Given the description of an element on the screen output the (x, y) to click on. 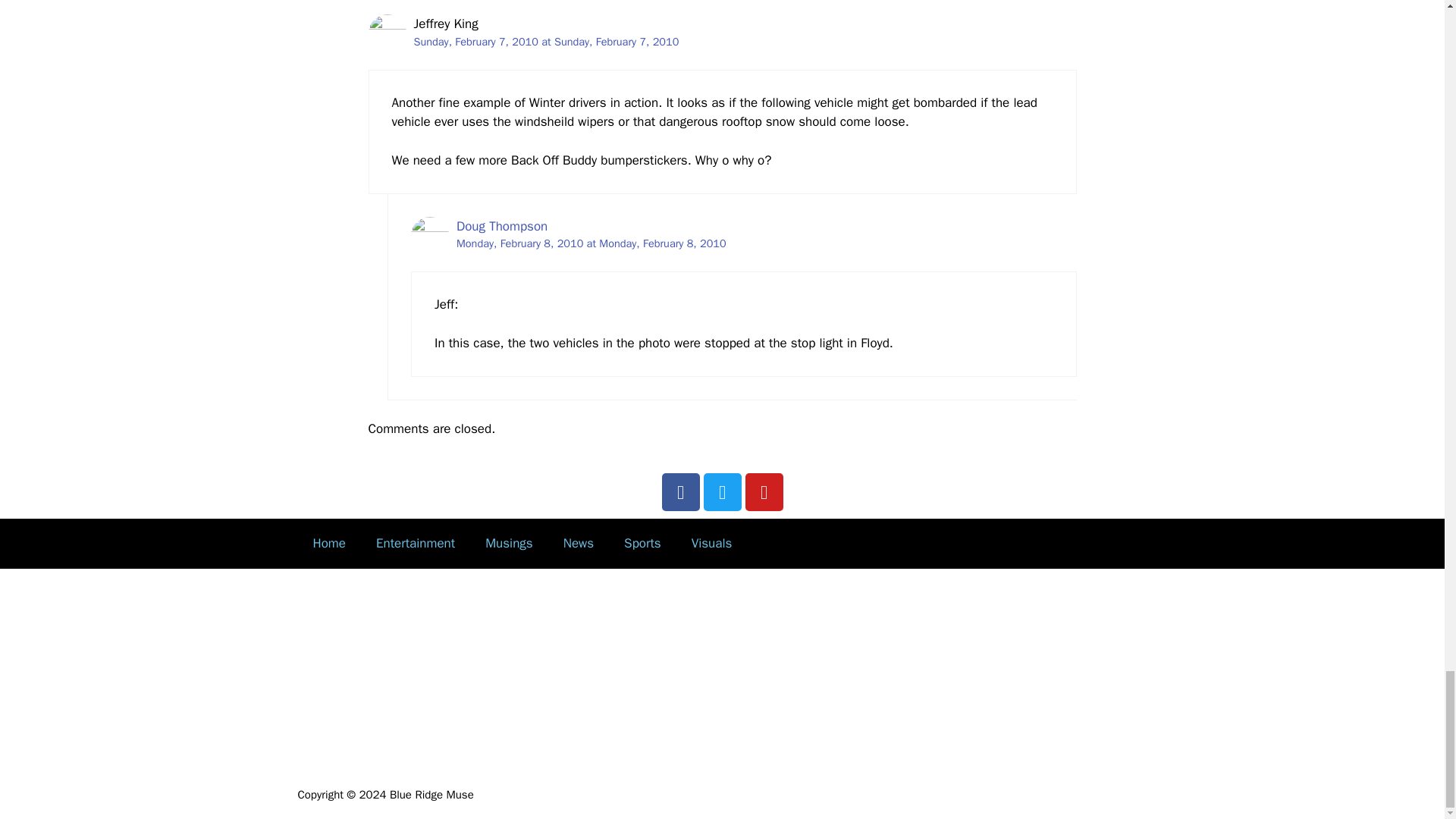
Sunday, February 7, 2010 at Sunday, February 7, 2010 (546, 41)
Musings (509, 543)
Entertainment (415, 543)
Monday, February 8, 2010 at Monday, February 8, 2010 (591, 243)
Doug Thompson (502, 226)
Home (328, 543)
